Given the description of an element on the screen output the (x, y) to click on. 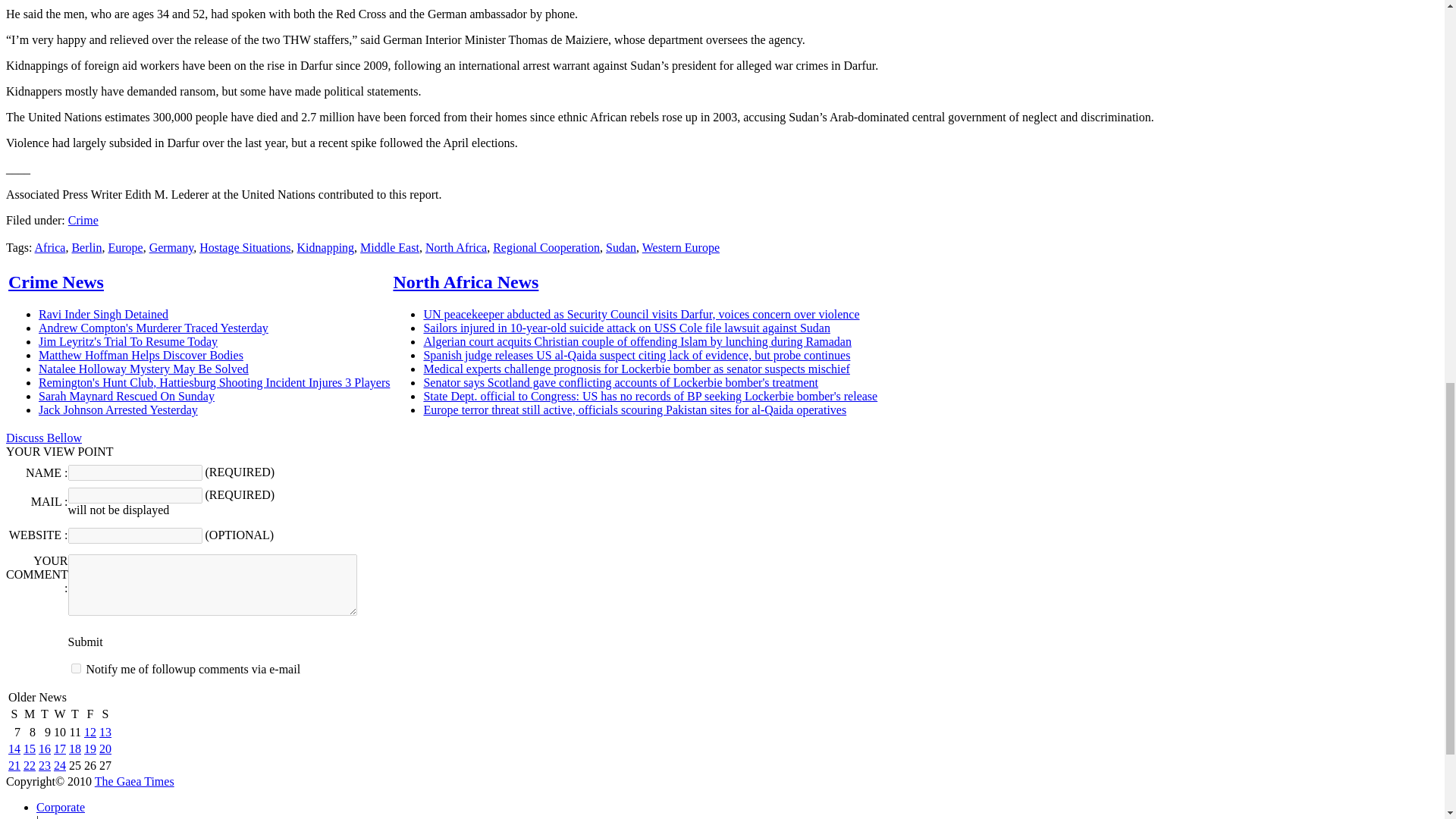
Kidnapping (326, 246)
subscribe (76, 668)
Europe (124, 246)
Africa (49, 246)
Hostage Situations (244, 246)
Berlin (86, 246)
Middle East (389, 246)
Crime (83, 219)
Germany (171, 246)
